Given the description of an element on the screen output the (x, y) to click on. 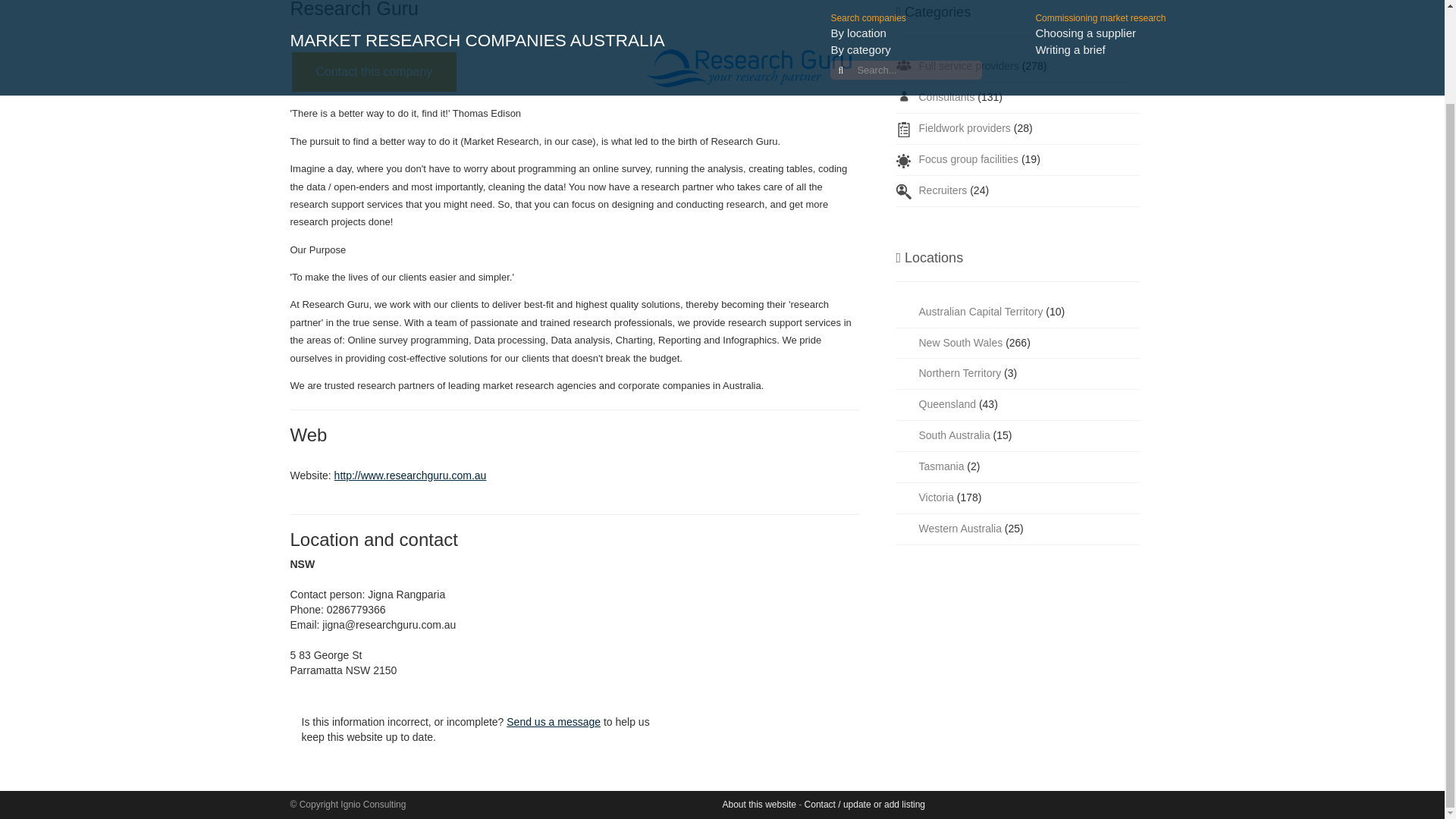
Recruiters (943, 190)
Western Australia (959, 528)
Consultants (946, 96)
Australian Capital Territory (980, 311)
New South Wales (960, 342)
Northern Territory (959, 372)
Fieldwork providers (964, 128)
Tasmania (940, 466)
Send us a message (552, 721)
South Australia (954, 435)
